Given the description of an element on the screen output the (x, y) to click on. 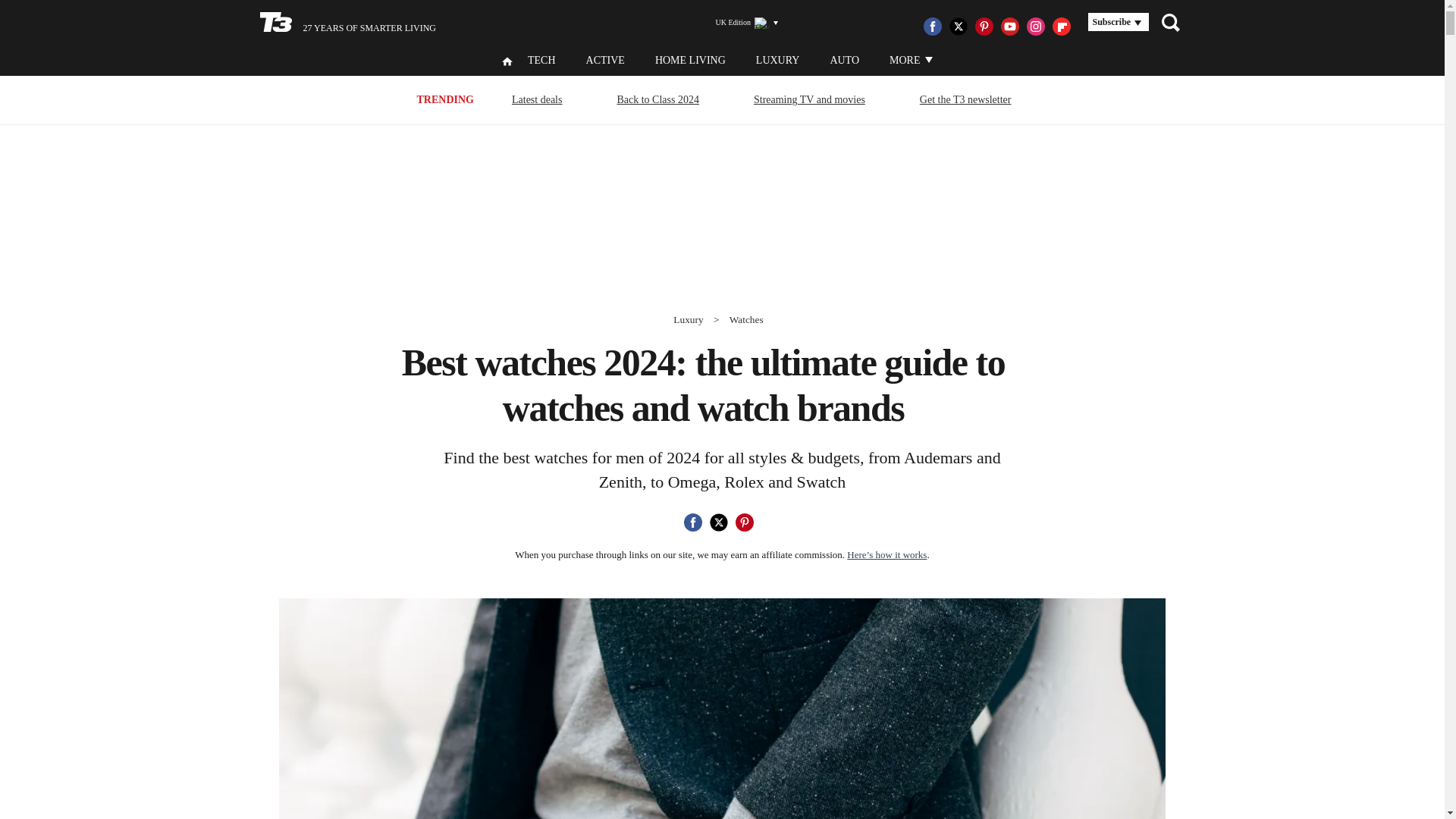
27 YEARS OF SMARTER LIVING (347, 23)
TECH (541, 60)
LUXURY (777, 60)
Latest deals (536, 99)
UK Edition (740, 22)
Streaming TV and movies (809, 99)
HOME LIVING (690, 60)
Back to Class 2024 (657, 99)
ACTIVE (605, 60)
AUTO (844, 60)
